Given the description of an element on the screen output the (x, y) to click on. 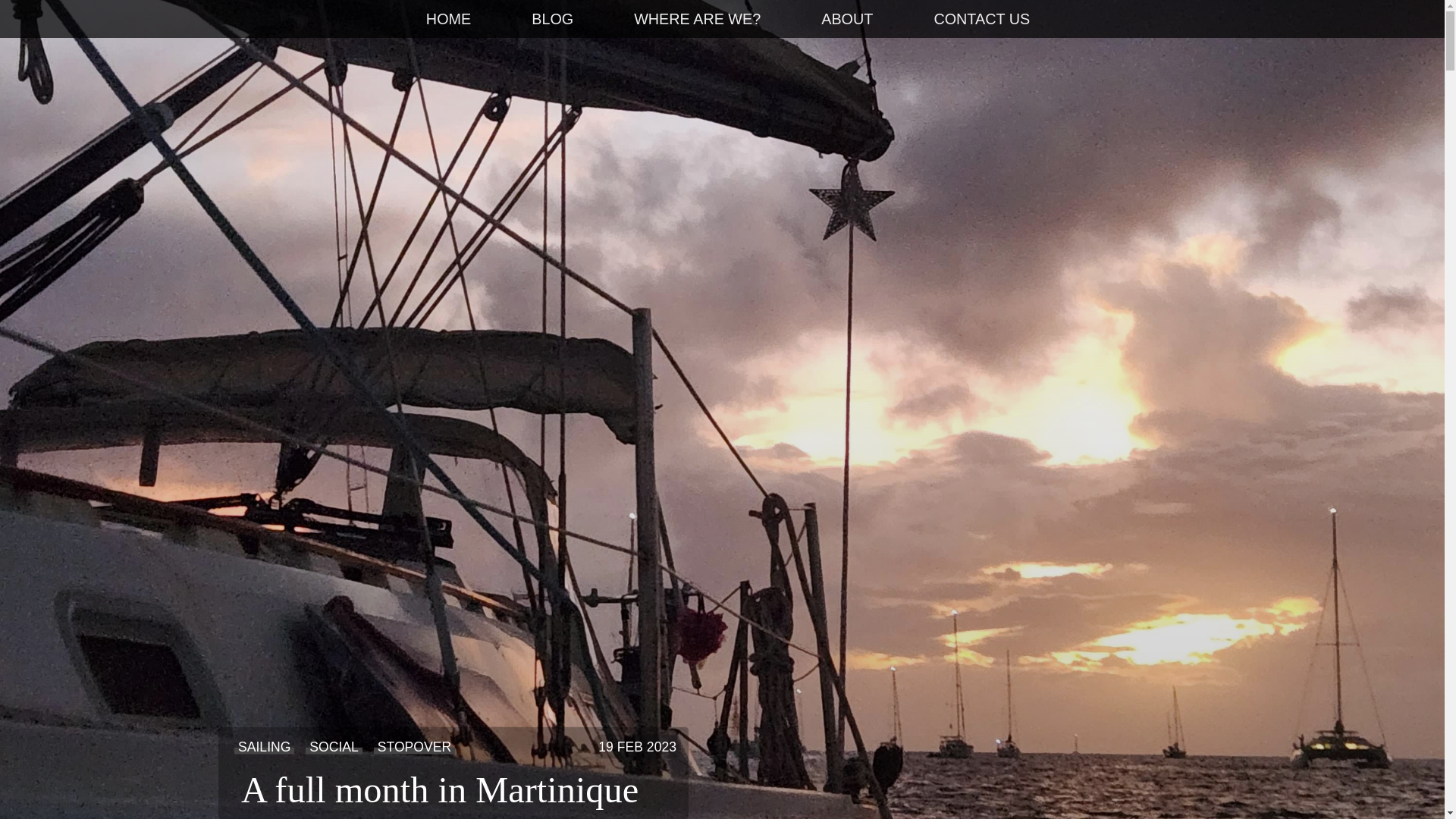
ABOUT (846, 19)
HOME (448, 19)
STOPOVER (414, 745)
CONTACT US (980, 19)
BLOG (552, 19)
SAILING (264, 745)
SOCIAL (333, 745)
WHERE ARE WE? (697, 19)
